Given the description of an element on the screen output the (x, y) to click on. 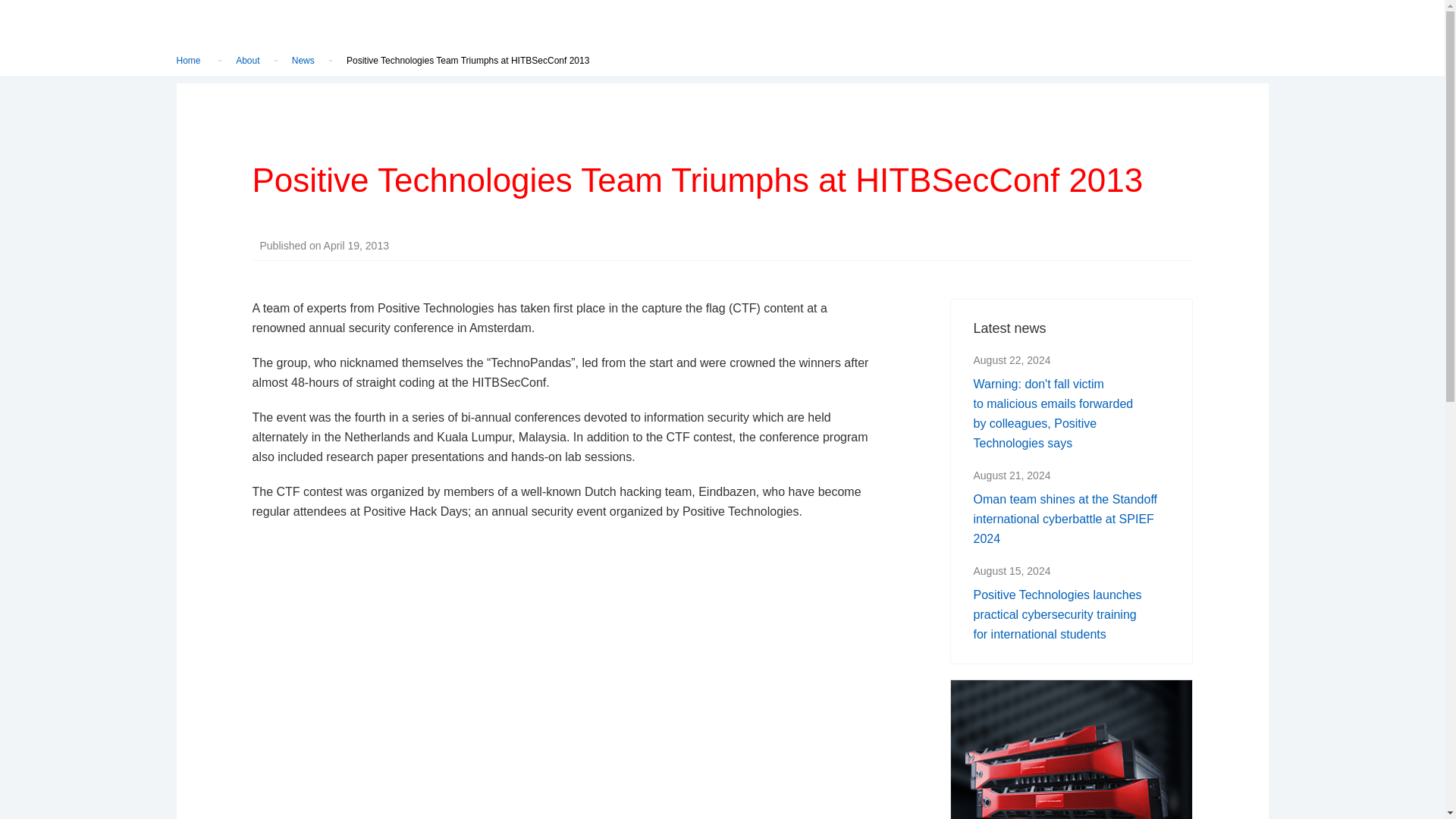
About (247, 60)
News (303, 60)
Home (188, 60)
